Given the description of an element on the screen output the (x, y) to click on. 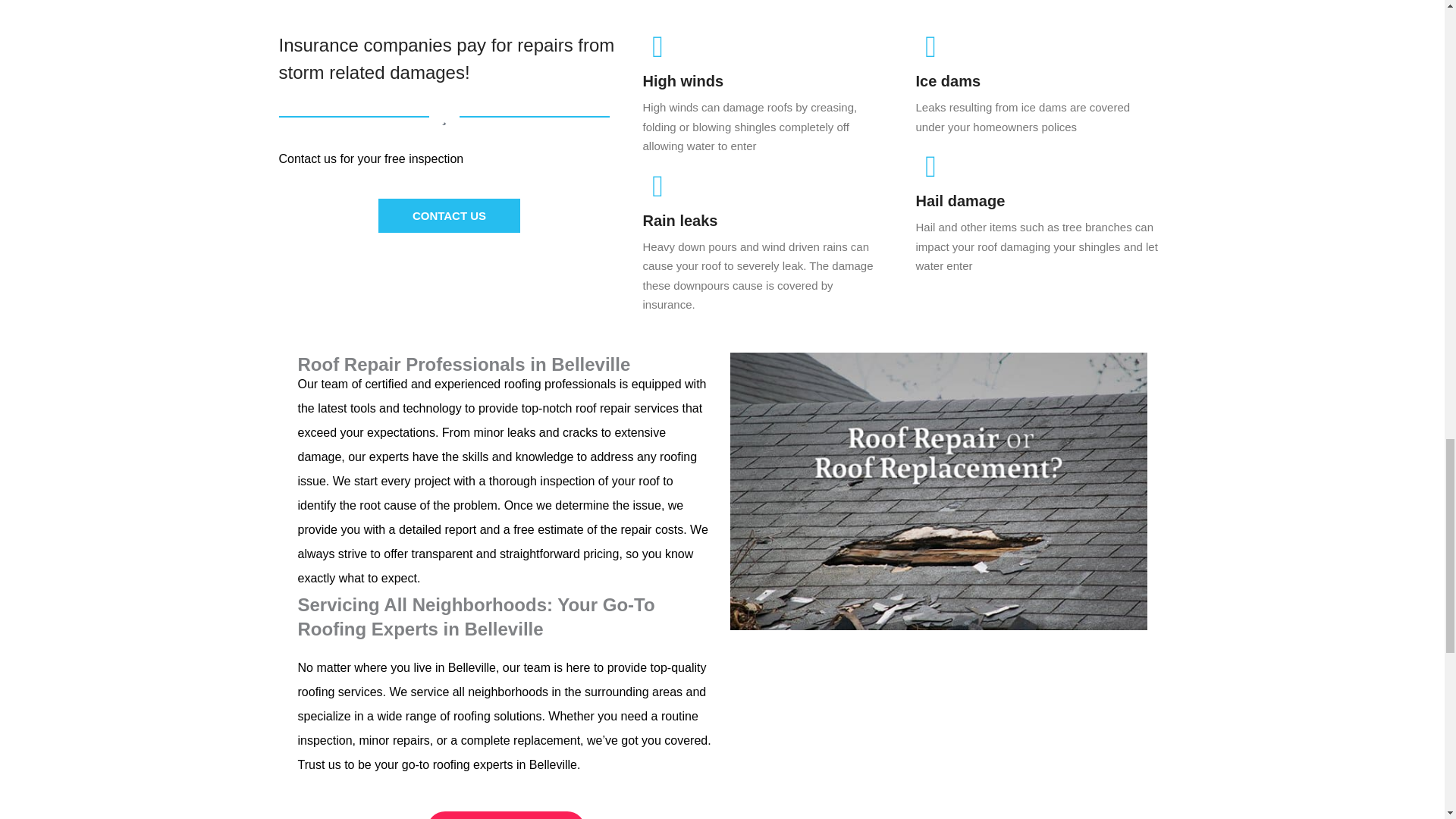
Belleville  Mi (938, 732)
